Given the description of an element on the screen output the (x, y) to click on. 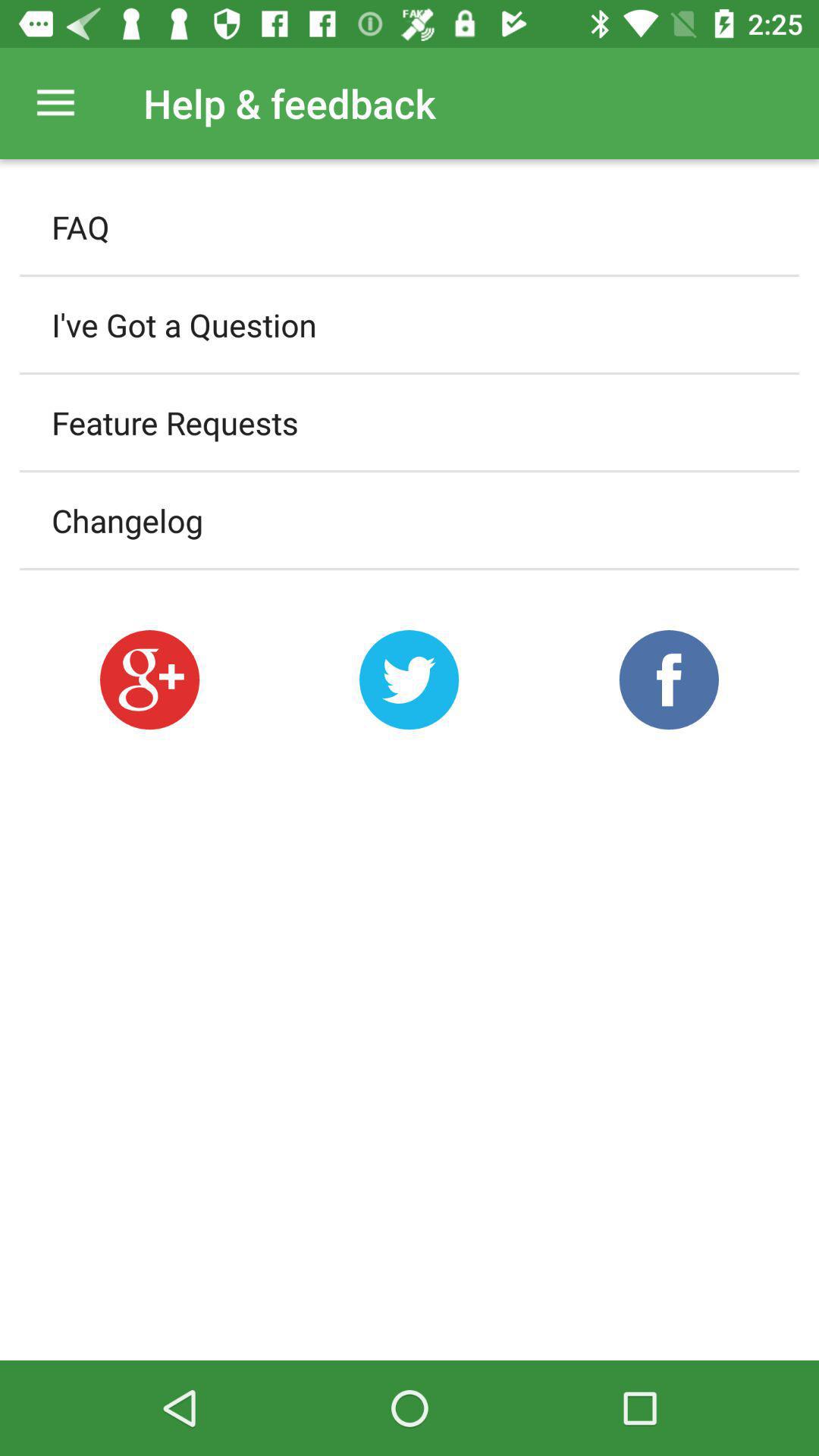
a share button to twitter (409, 679)
